Given the description of an element on the screen output the (x, y) to click on. 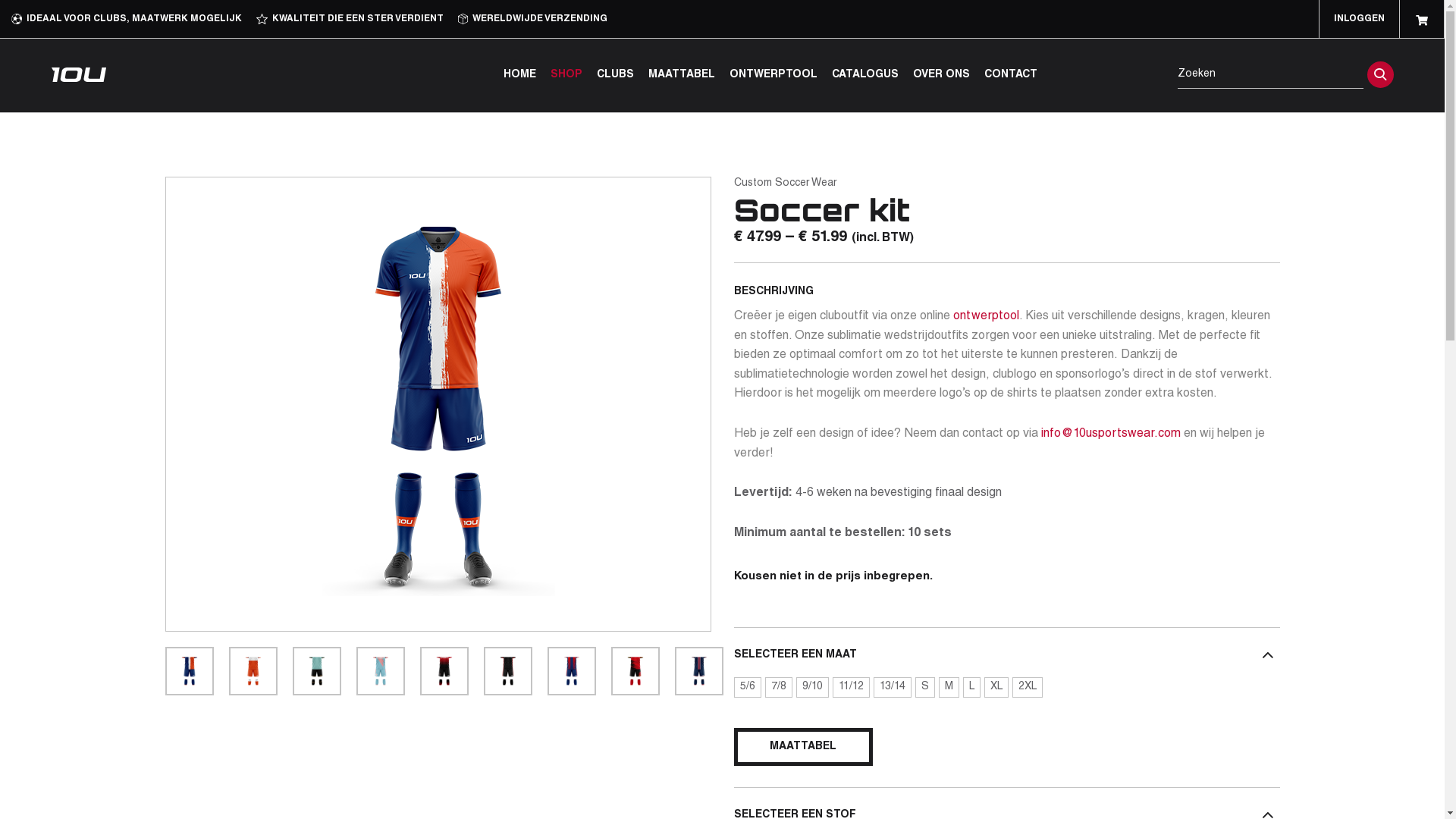
CATALOGUS Element type: text (864, 75)
MAATTABEL Element type: text (803, 746)
HOME Element type: text (519, 75)
info@10usportswear.com Element type: text (1110, 434)
MAATTABEL Element type: text (680, 75)
Skip to content Element type: text (0, 0)
ONTWERPTOOL Element type: text (773, 75)
CONTACT Element type: text (1010, 75)
INLOGGEN Element type: text (1359, 18)
OVER ONS Element type: text (941, 75)
SHOP Element type: text (566, 75)
ontwerptool Element type: text (986, 316)
Winkelmand Element type: hover (1421, 18)
CLUBS Element type: text (614, 75)
